Given the description of an element on the screen output the (x, y) to click on. 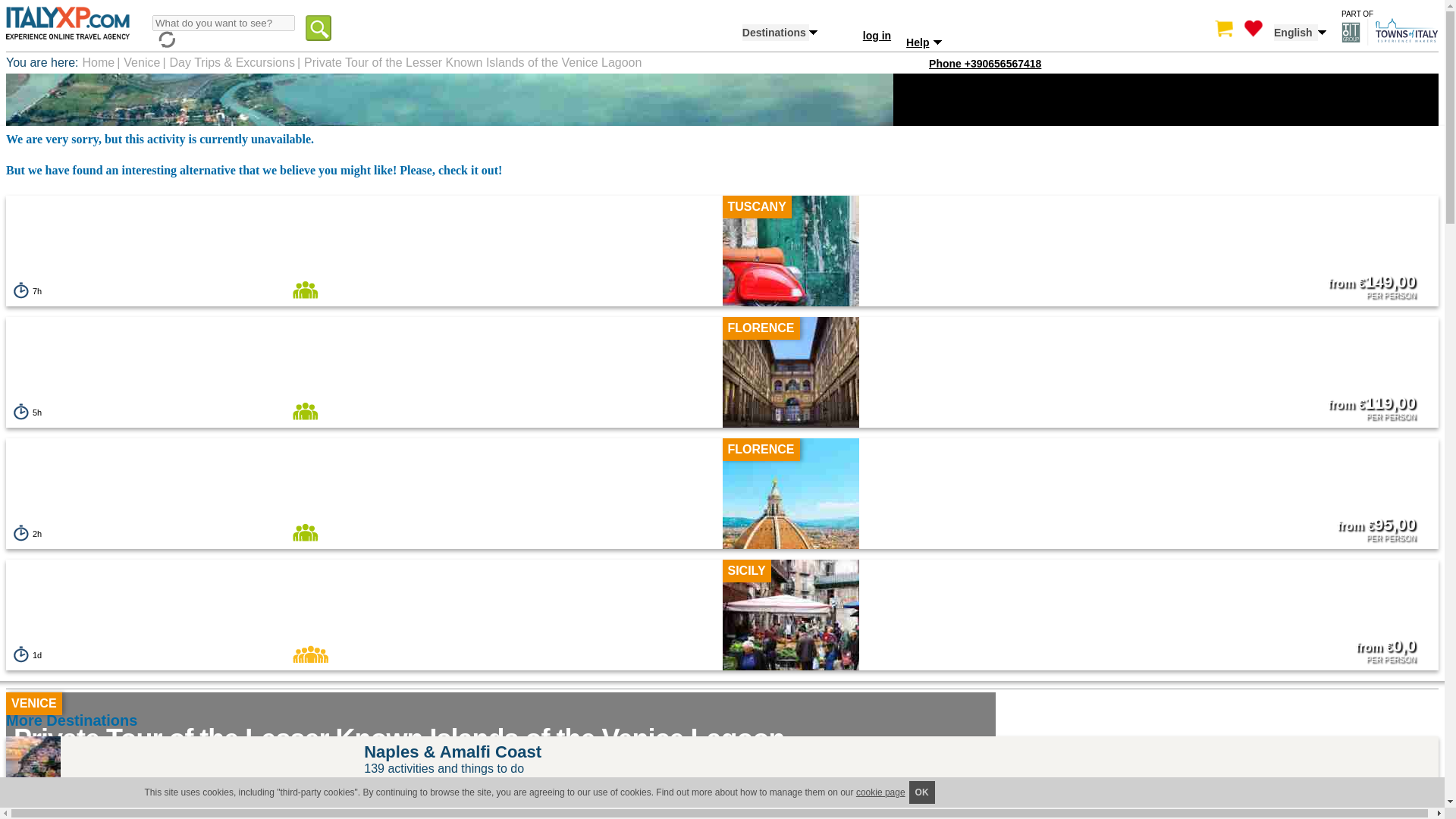
Best tours and activities for Florence (33, 811)
Vespa experience around the hills and vineyards of Chianti (790, 263)
Home (98, 62)
semi-private (305, 532)
Cooking Class in Palermo with a visit to mercato del capo (179, 707)
ToItalyGroup (1389, 41)
Venice (141, 62)
Help (1051, 42)
Contact (948, 92)
Cooking Class in Palermo with a visit to mercato del capo (790, 627)
semi-private (305, 411)
log in (877, 35)
semi-private (305, 289)
Vespa experience around the hills and vineyards of Chianti (183, 344)
Home (67, 52)
